Given the description of an element on the screen output the (x, y) to click on. 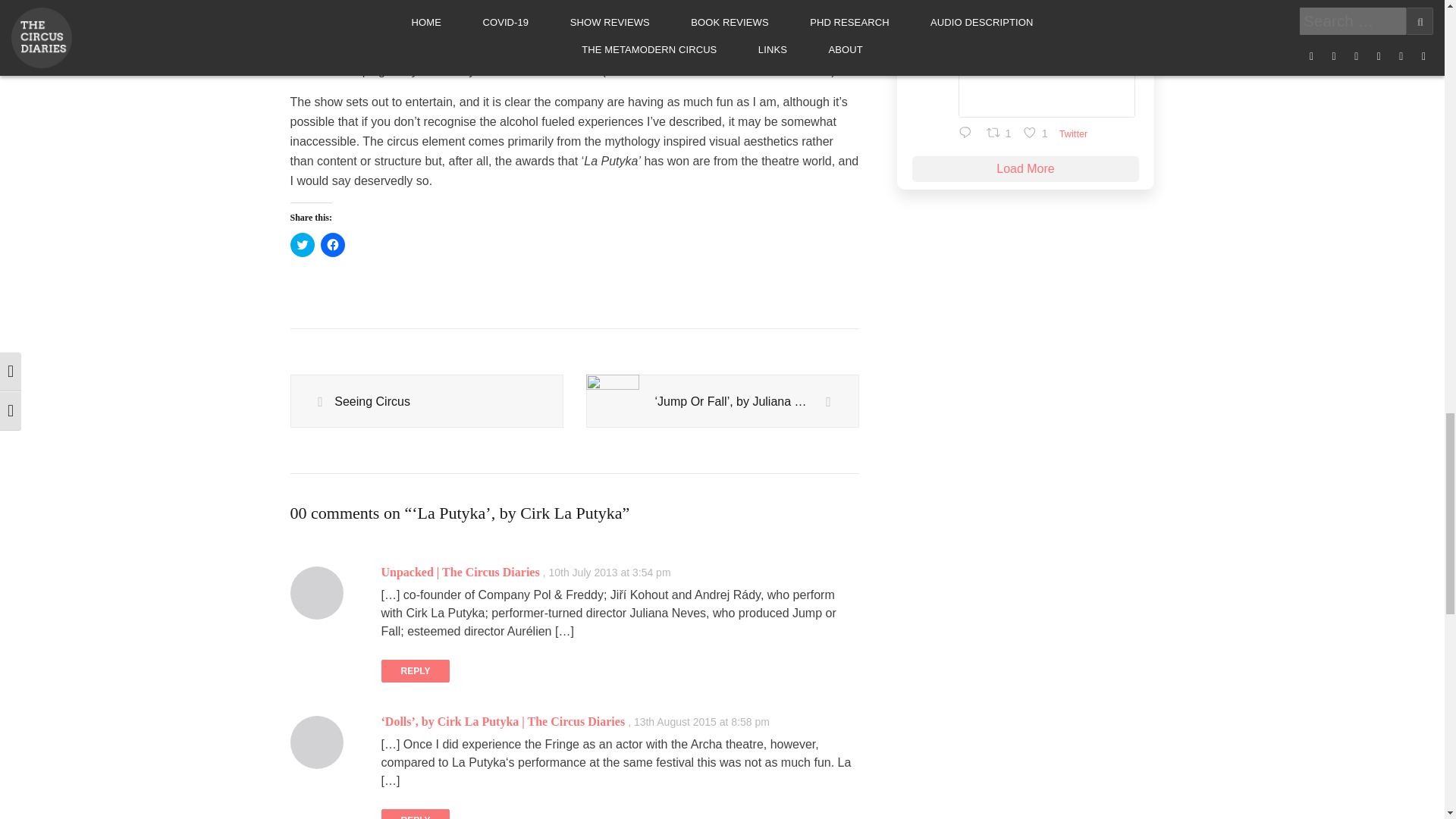
Click to share on Twitter (301, 244)
Seeing Circus (426, 401)
Click to share on Facebook (331, 244)
